Given the description of an element on the screen output the (x, y) to click on. 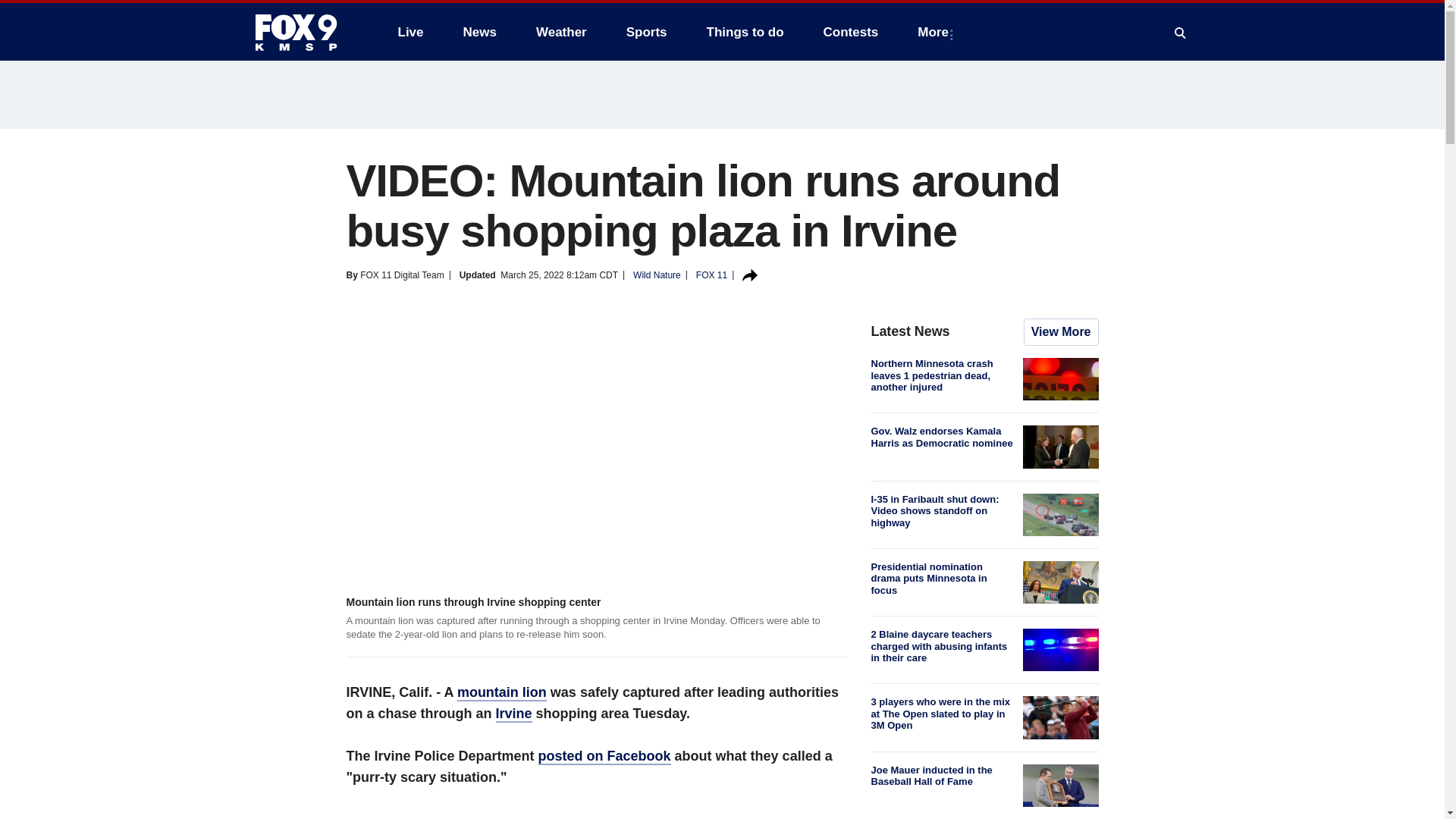
Weather (561, 32)
Contests (850, 32)
Sports (646, 32)
More (935, 32)
News (479, 32)
Live (410, 32)
Things to do (745, 32)
